Given the description of an element on the screen output the (x, y) to click on. 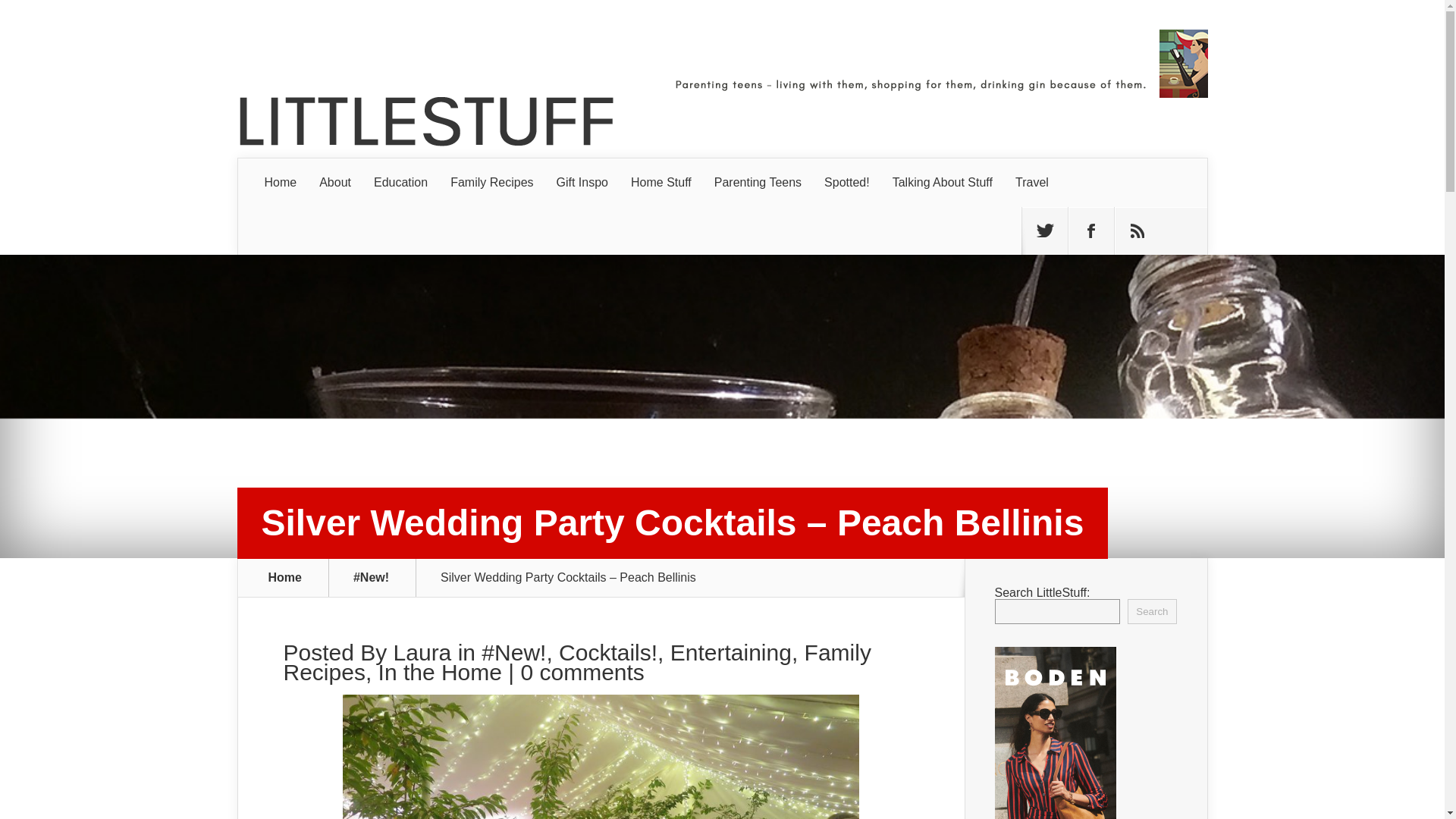
Posts by Laura (422, 652)
About (334, 182)
Home (280, 182)
